Given the description of an element on the screen output the (x, y) to click on. 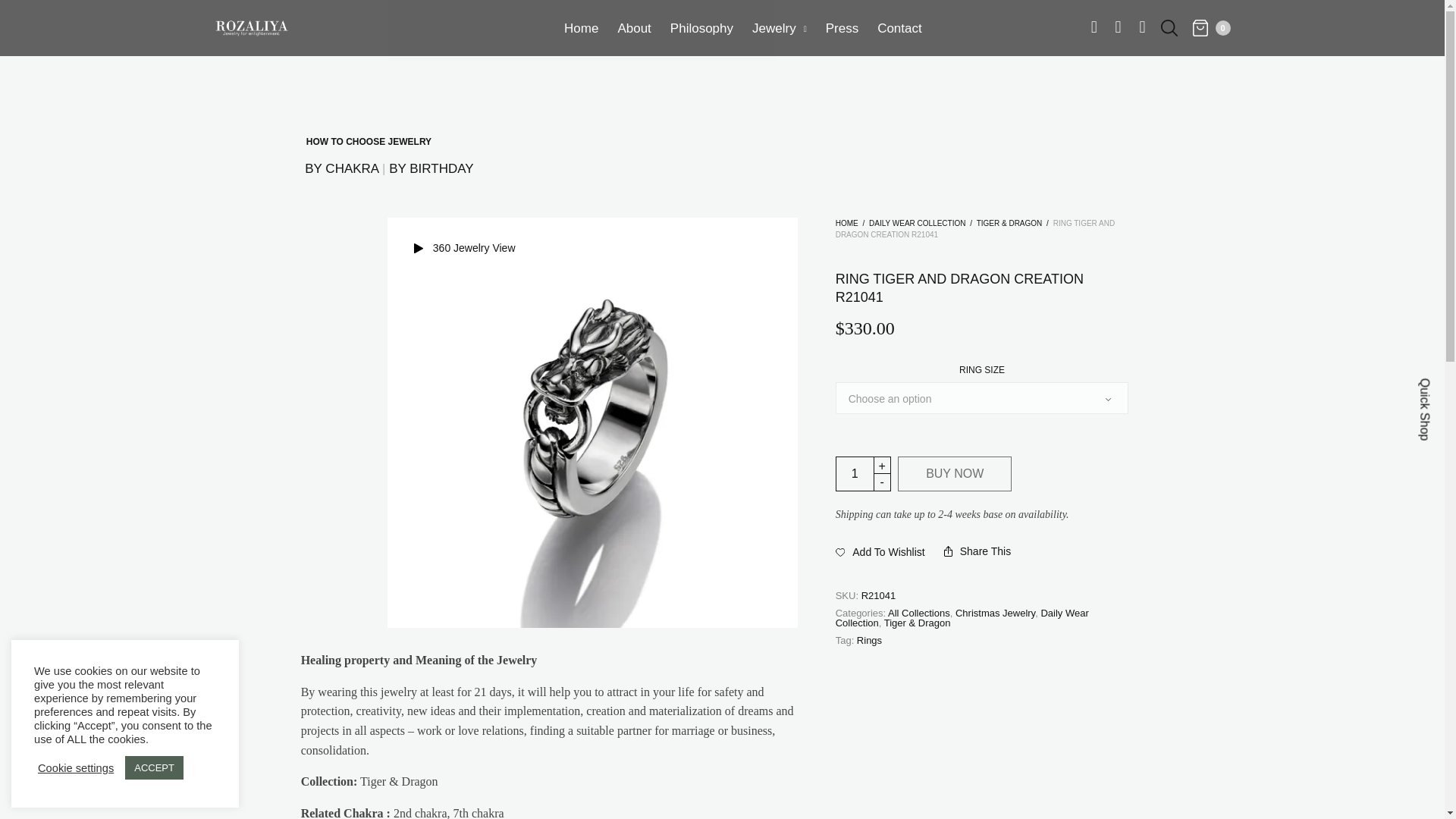
Jewelry (779, 27)
- (882, 482)
About (633, 27)
Philosophy (701, 27)
1 (855, 473)
Cart (1211, 27)
Home (581, 27)
